Given the description of an element on the screen output the (x, y) to click on. 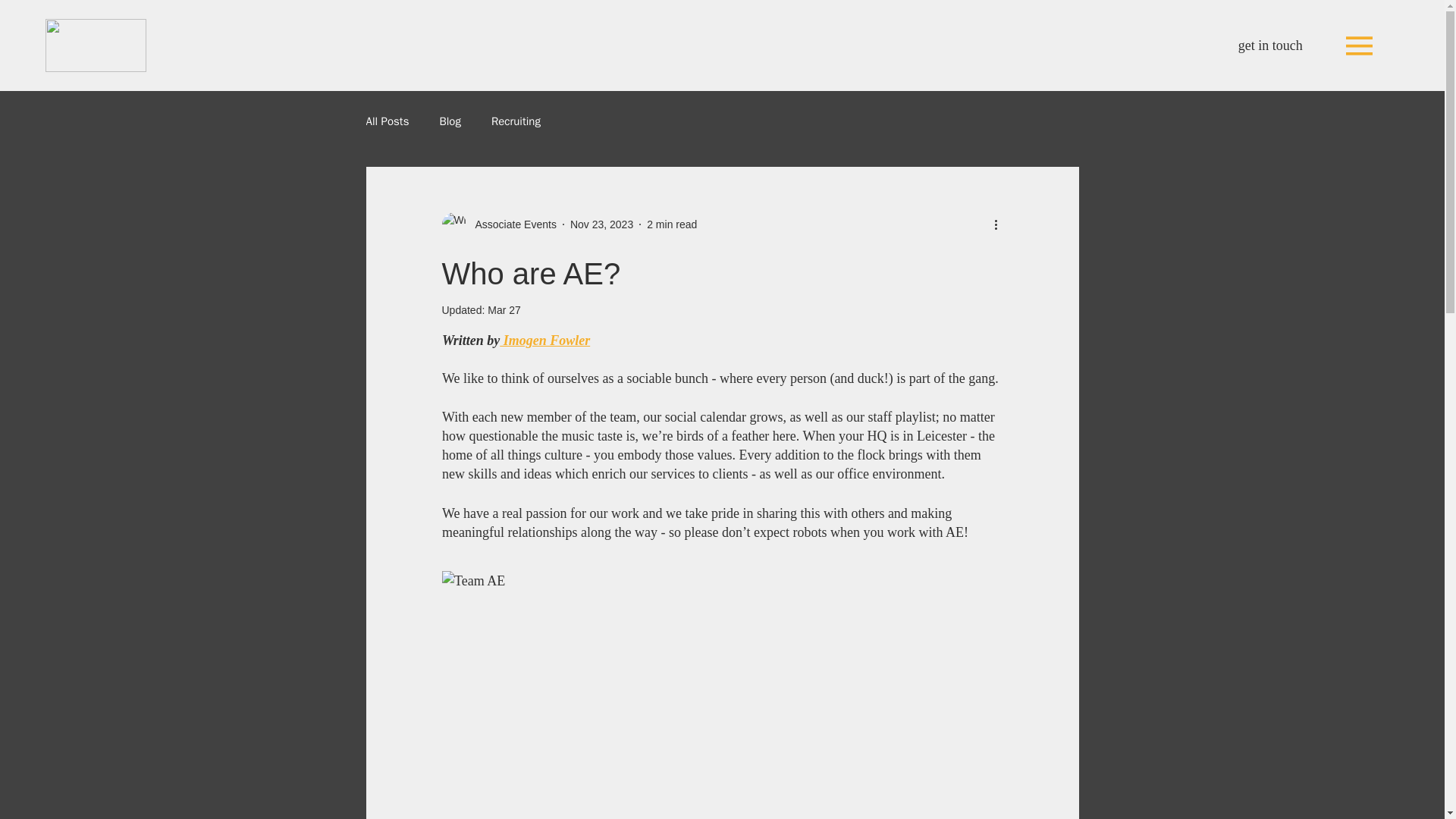
Blog (449, 120)
Associate Events (510, 224)
Mar 27 (504, 309)
2 min read (671, 224)
 Imogen Fowler (544, 340)
Nov 23, 2023 (601, 224)
Recruiting (516, 120)
All Posts (387, 120)
get in touch (1271, 45)
